Given the description of an element on the screen output the (x, y) to click on. 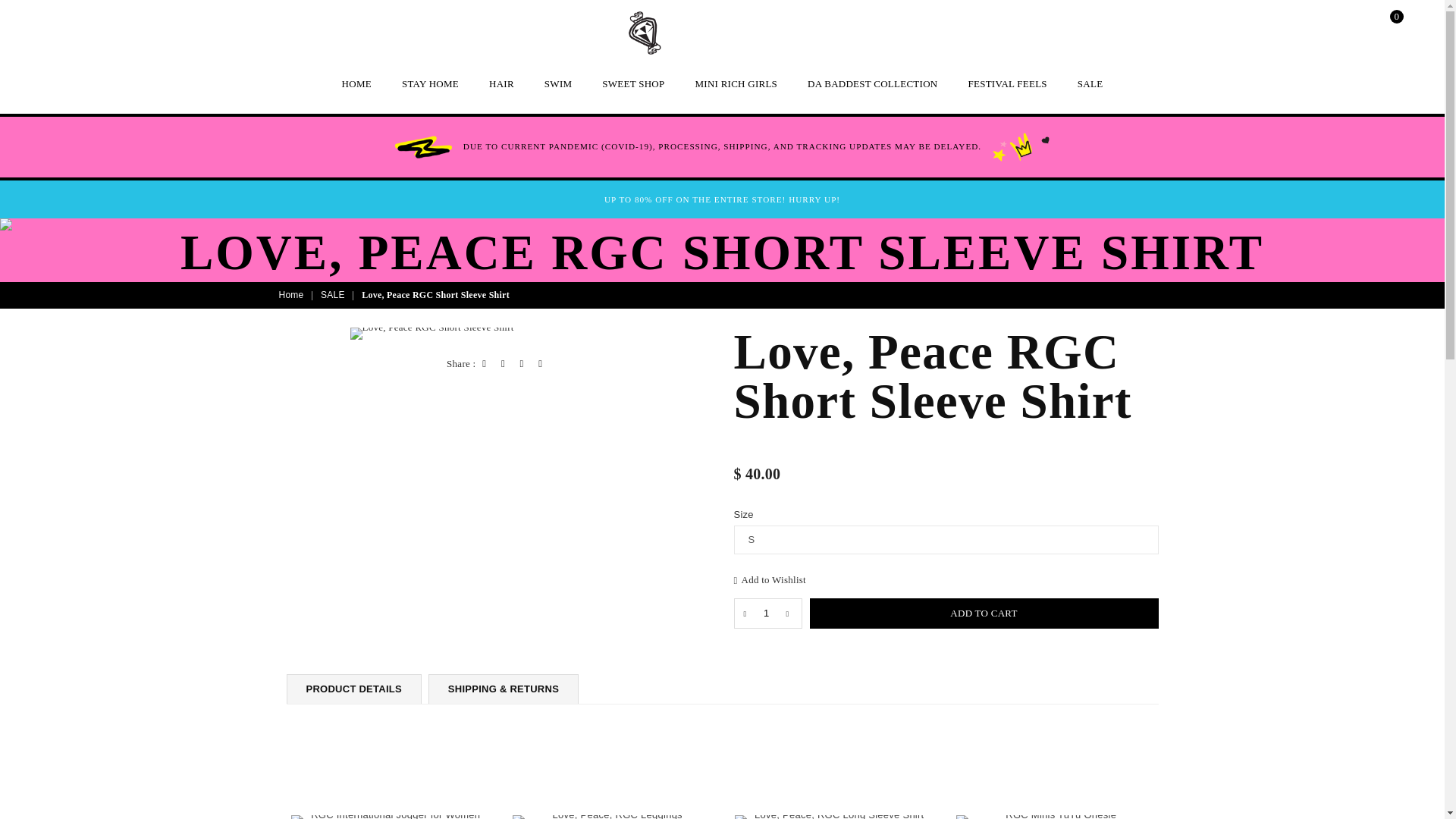
HOME (356, 84)
0 (1383, 26)
Cart (1383, 26)
Back to the home page (292, 295)
Search (1287, 26)
RichGirlCandy (644, 32)
Wishlist (1351, 26)
Settings (1319, 26)
MINI RICH GIRLS (735, 84)
DA BADDEST COLLECTION (872, 84)
Quantity (767, 613)
SWEET SHOP (633, 84)
STAY HOME (430, 84)
FESTIVAL FEELS (1007, 84)
